Given the description of an element on the screen output the (x, y) to click on. 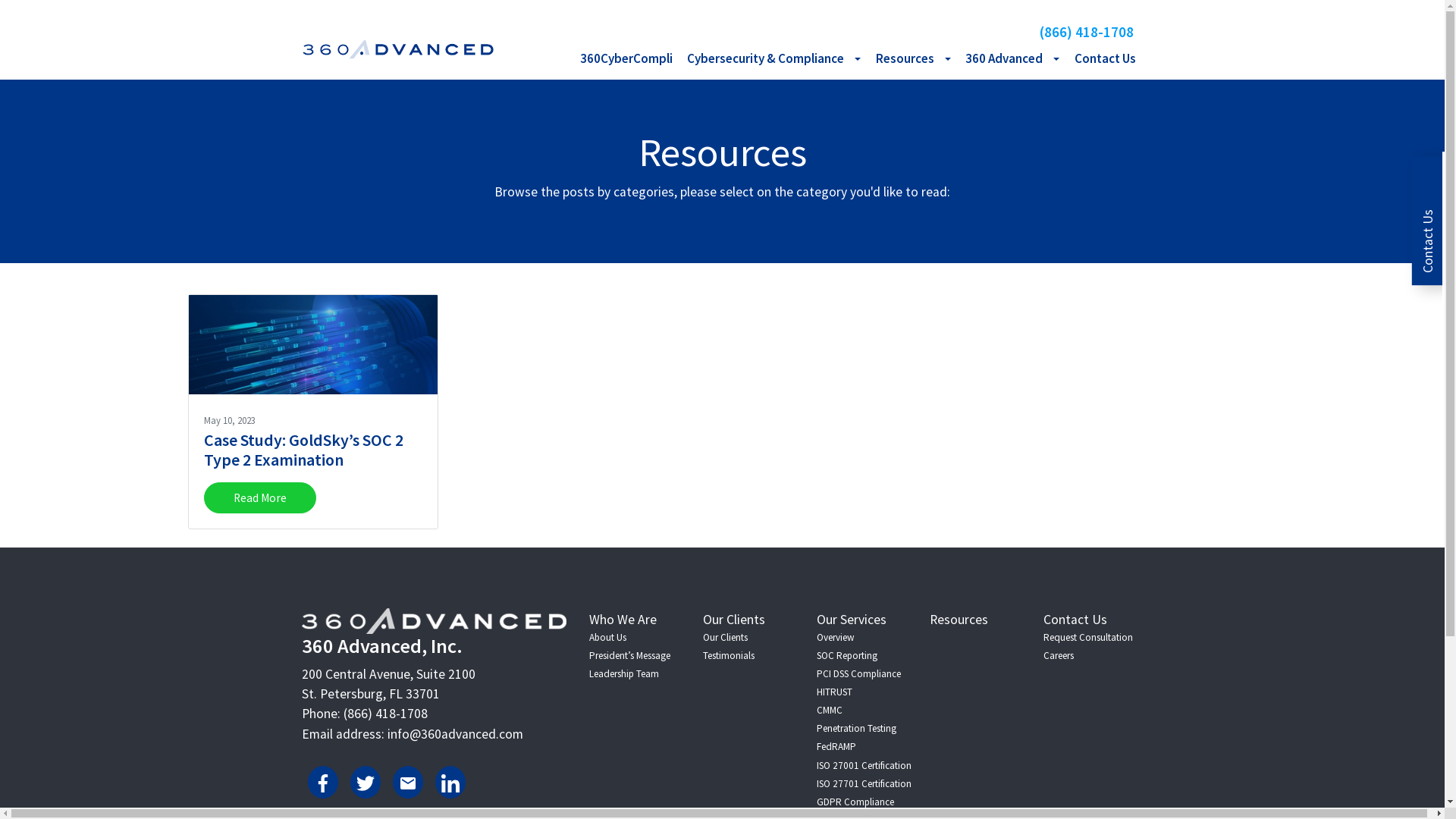
Leadership Team Element type: text (623, 673)
ISO 27001 Certification Element type: text (863, 765)
SOC Reporting Element type: text (846, 655)
(866) 418-1708 Element type: text (1091, 31)
Contact Us Element type: text (1075, 619)
Our Clients Element type: text (724, 636)
Testimonials Element type: text (728, 655)
Careers Element type: text (1058, 655)
Our Clients Element type: text (733, 619)
About Us Element type: text (607, 636)
FedRAMP Element type: text (836, 746)
ISO 27701 Certification Element type: text (863, 783)
Contact Us Element type: text (1104, 59)
info@360advanced.com Element type: text (454, 733)
360CyberCompli Element type: text (625, 59)
Who We Are Element type: text (622, 619)
Cybersecurity & Compliance Element type: text (774, 59)
Our Services Element type: text (851, 619)
GDPR Compliance Element type: text (855, 801)
Resources Element type: text (958, 619)
360 Advanced Element type: text (1012, 59)
PCI DSS Compliance Element type: text (858, 673)
Resources Element type: text (913, 59)
Overview Element type: text (834, 636)
Penetration Testing Element type: text (856, 727)
Read More Element type: text (259, 497)
CMMC Element type: text (829, 709)
Request Consultation Element type: text (1087, 636)
HITRUST Element type: text (834, 691)
